Given the description of an element on the screen output the (x, y) to click on. 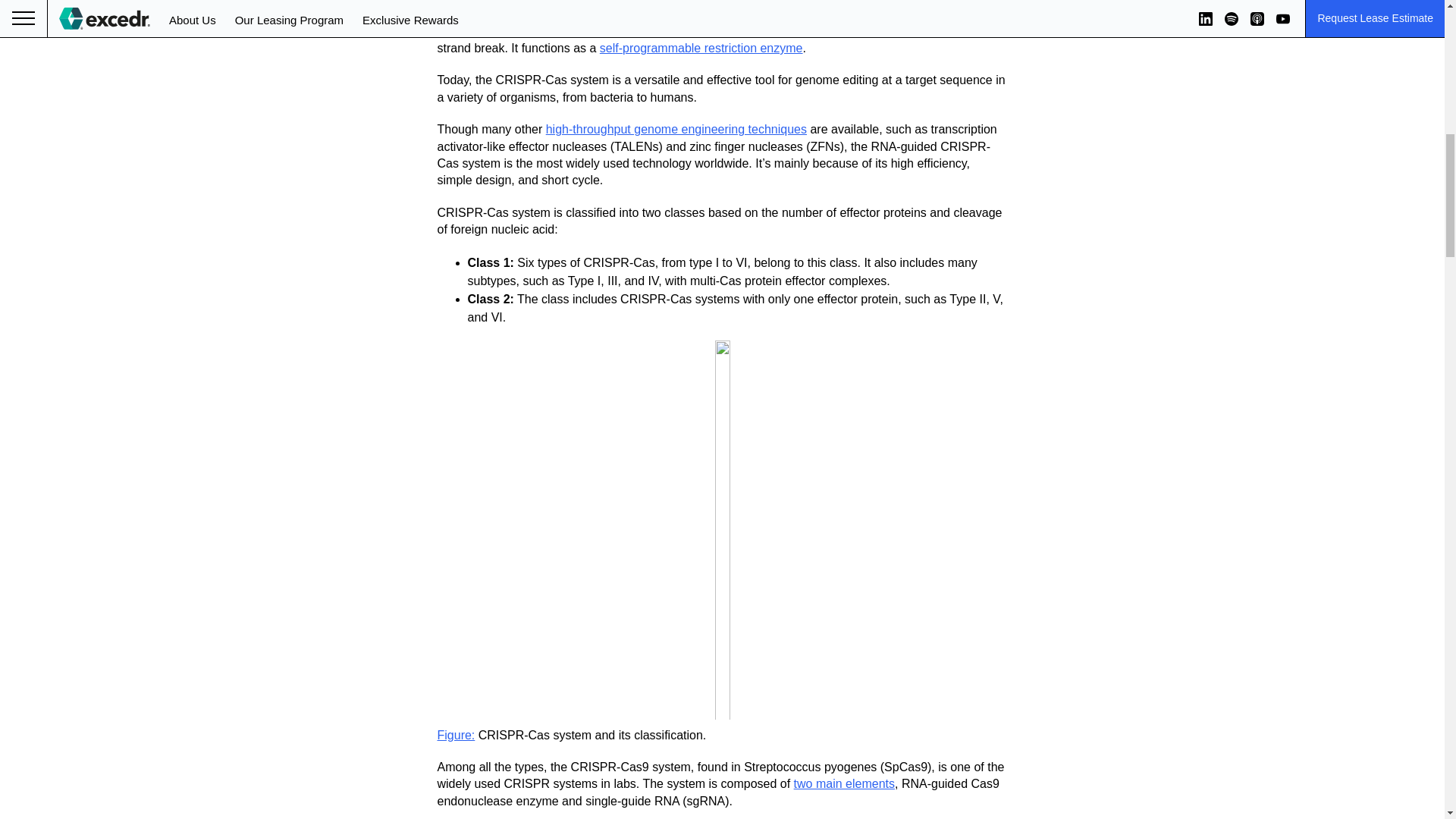
two main elements (844, 783)
high-throughput genome engineering techniques (676, 128)
self-programmable restriction enzyme (701, 47)
Figure: (455, 735)
